Given the description of an element on the screen output the (x, y) to click on. 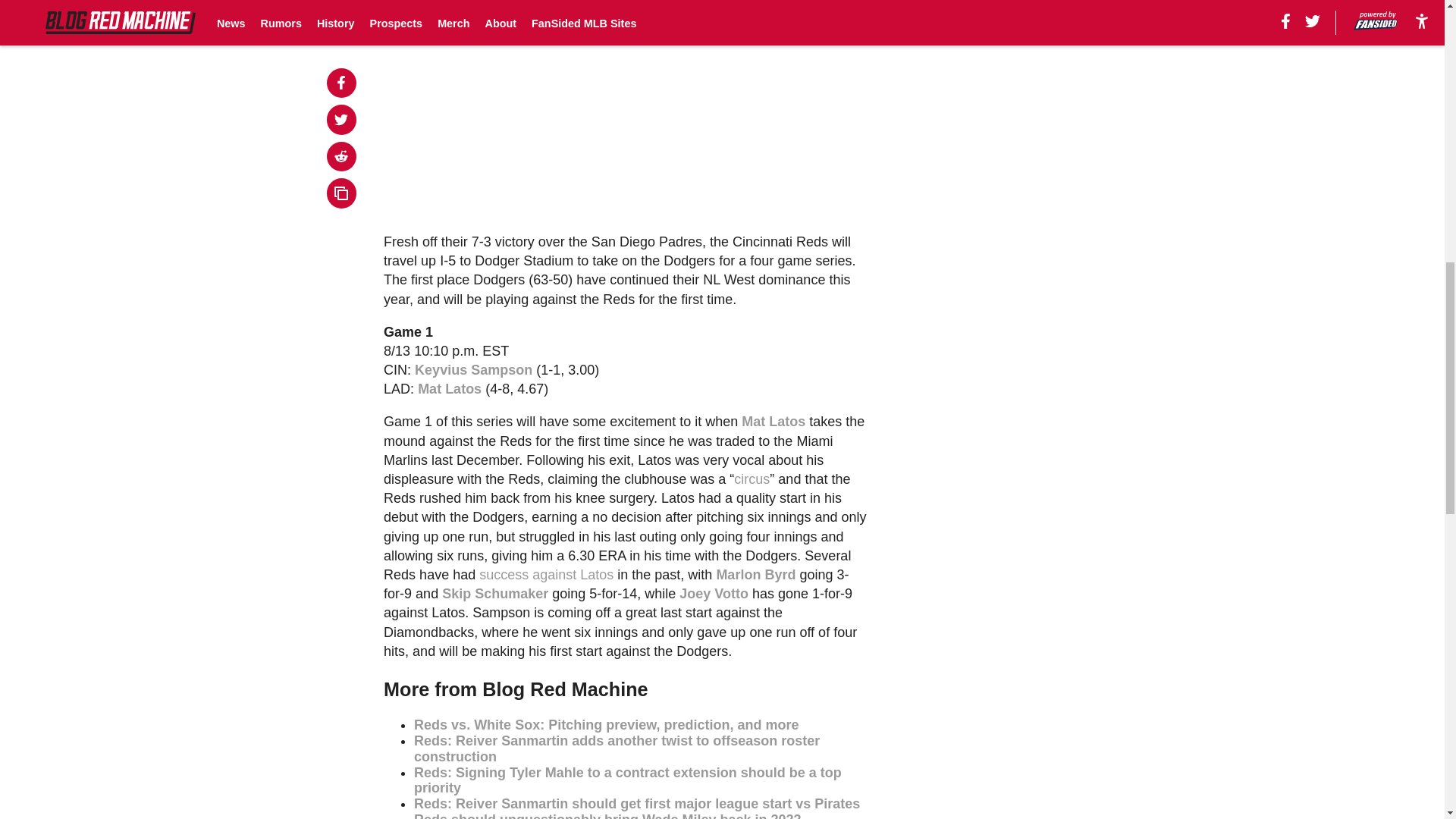
Marlon Byrd (755, 574)
Mat Latos (773, 421)
Skip Schumaker (495, 593)
Keyvius Sampson (473, 369)
Joey Votto (713, 593)
Reds vs. White Sox: Pitching preview, prediction, and more (605, 724)
Mat Latos (449, 388)
circus (751, 478)
